Given the description of an element on the screen output the (x, y) to click on. 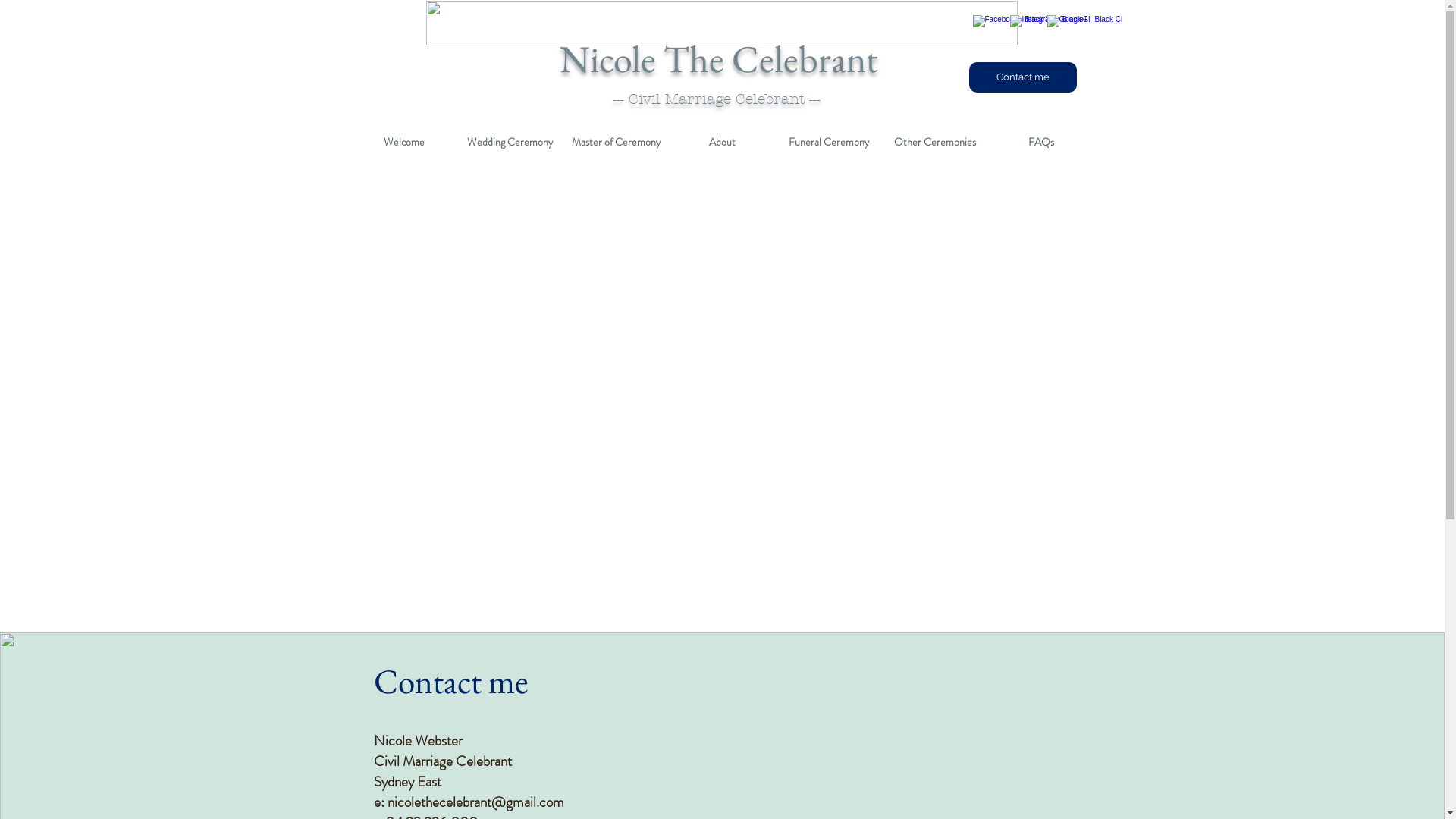
Funeral Ceremony Element type: text (828, 141)
Wedding Ceremony Element type: text (509, 141)
Contact me Element type: text (1022, 77)
Master of Ceremony Element type: text (615, 141)
About Element type: text (721, 141)
Events Calendar Element type: hover (724, 407)
Nicole The Celebrant Element type: text (718, 58)
nicolethecelebrant@gmail.com Element type: text (474, 801)
Welcome Element type: text (403, 141)
